Given the description of an element on the screen output the (x, y) to click on. 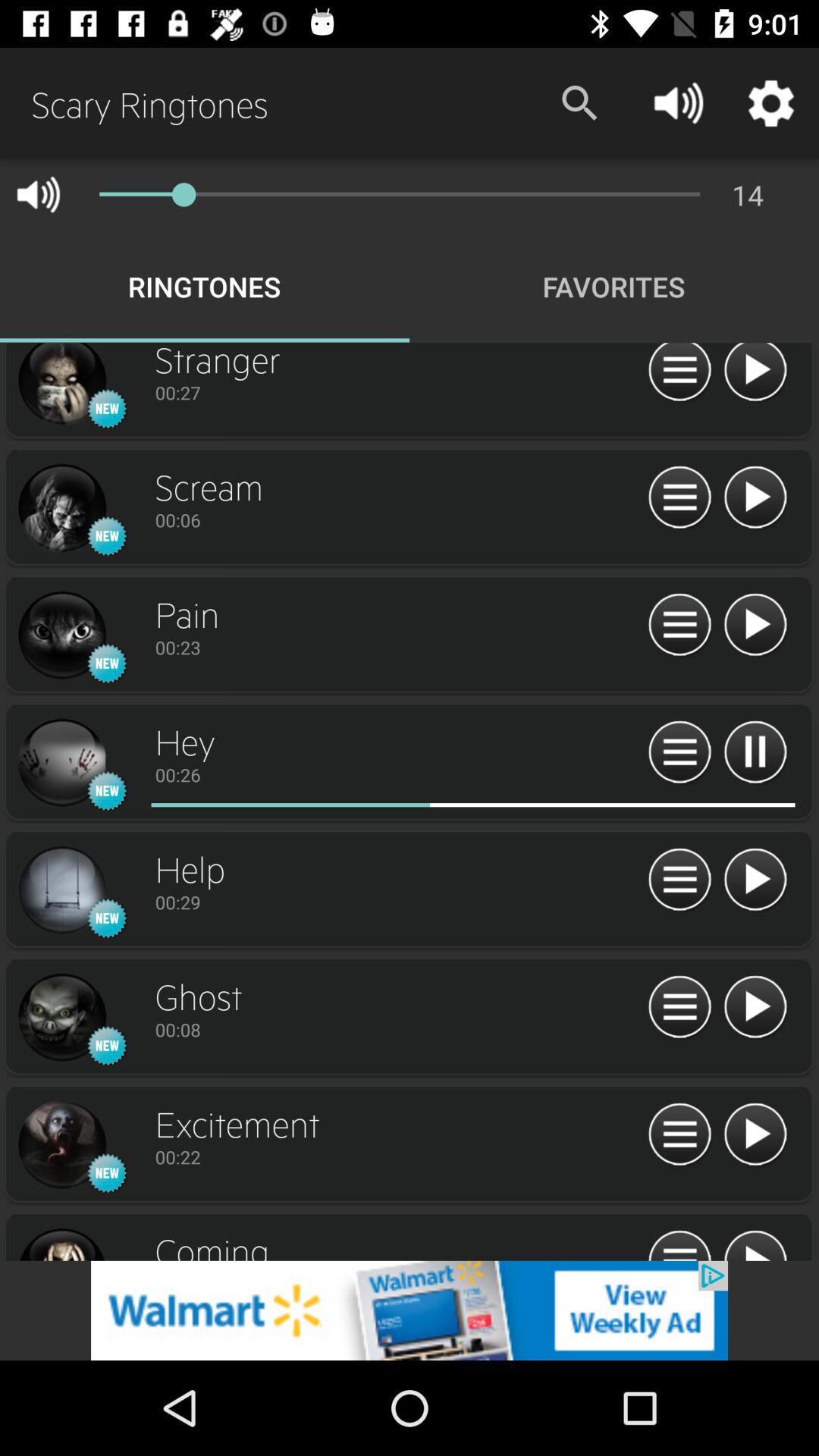
go to menu (679, 498)
